Given the description of an element on the screen output the (x, y) to click on. 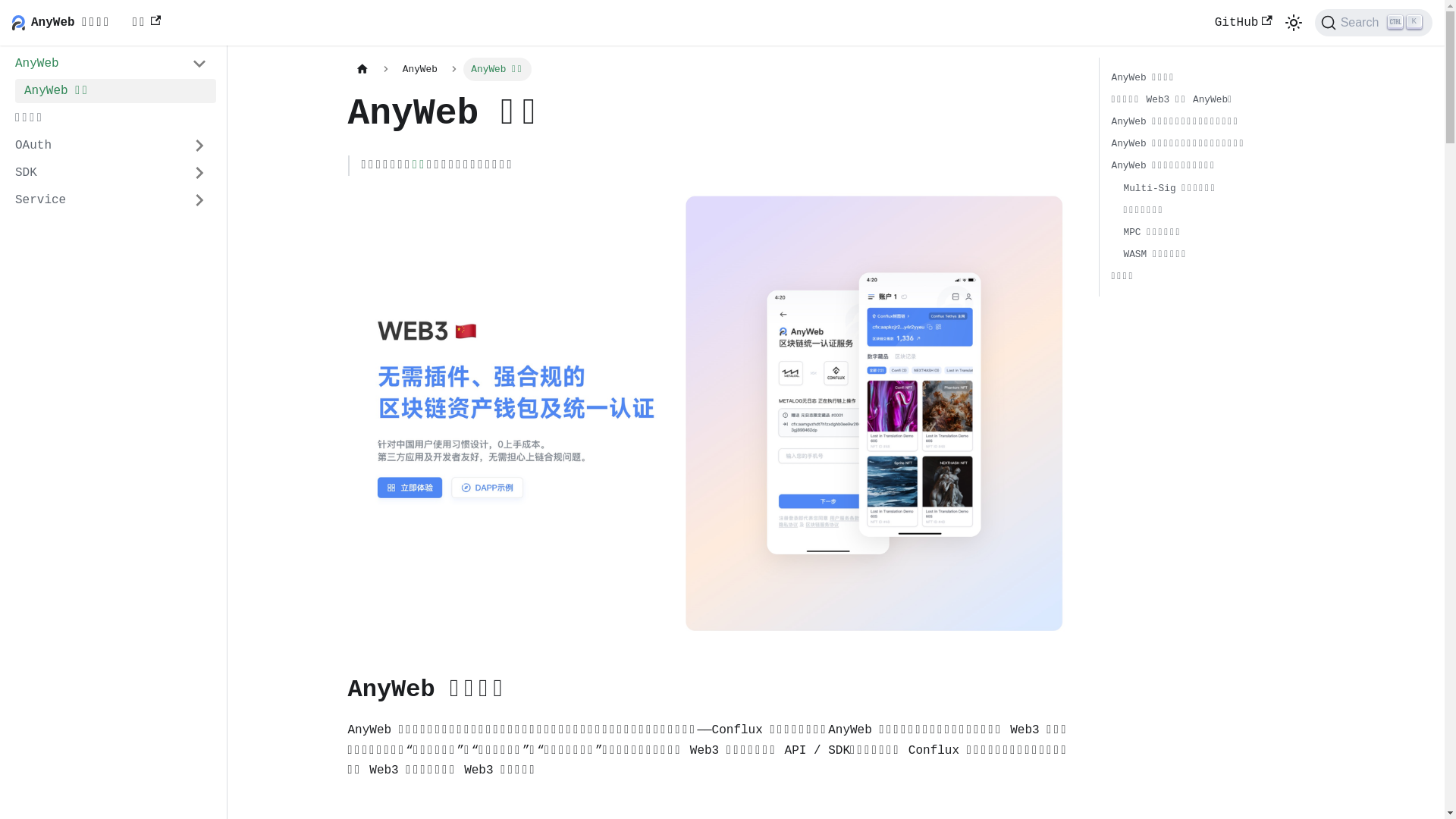
Search
K Element type: text (1373, 22)
AnyWeb Element type: text (111, 63)
Switch between dark and light mode (currently light mode) Element type: hover (1293, 22)
OAuth Element type: text (111, 145)
SDK Element type: text (111, 172)
Service Element type: text (111, 200)
GitHub Element type: text (1243, 22)
